Given the description of an element on the screen output the (x, y) to click on. 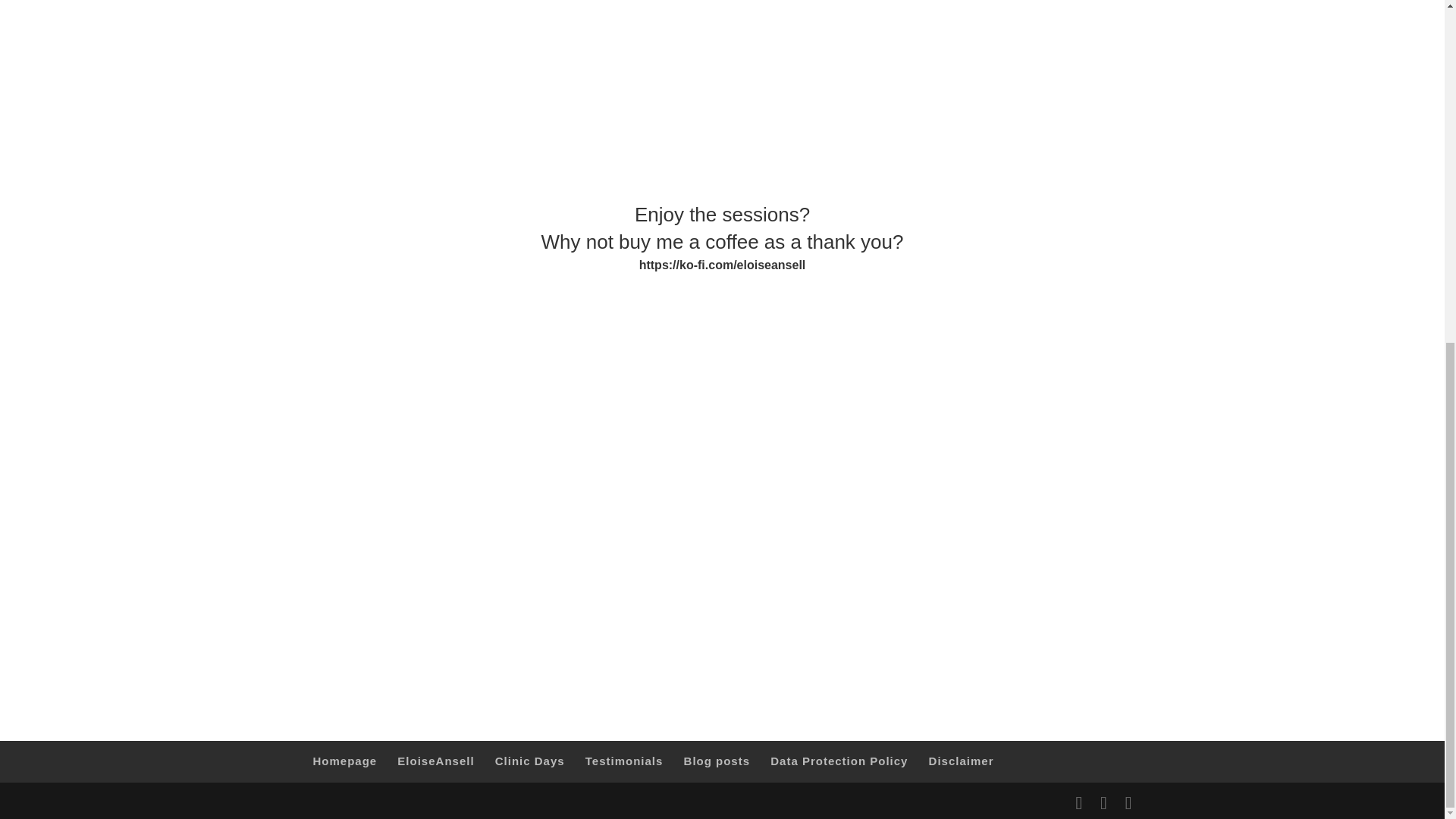
Clinic Days (529, 760)
Homepage (345, 760)
Disclaimer (961, 760)
Blog posts (717, 760)
EloiseAnsell (435, 760)
Data Protection Policy (838, 760)
Testimonials (624, 760)
